Given the description of an element on the screen output the (x, y) to click on. 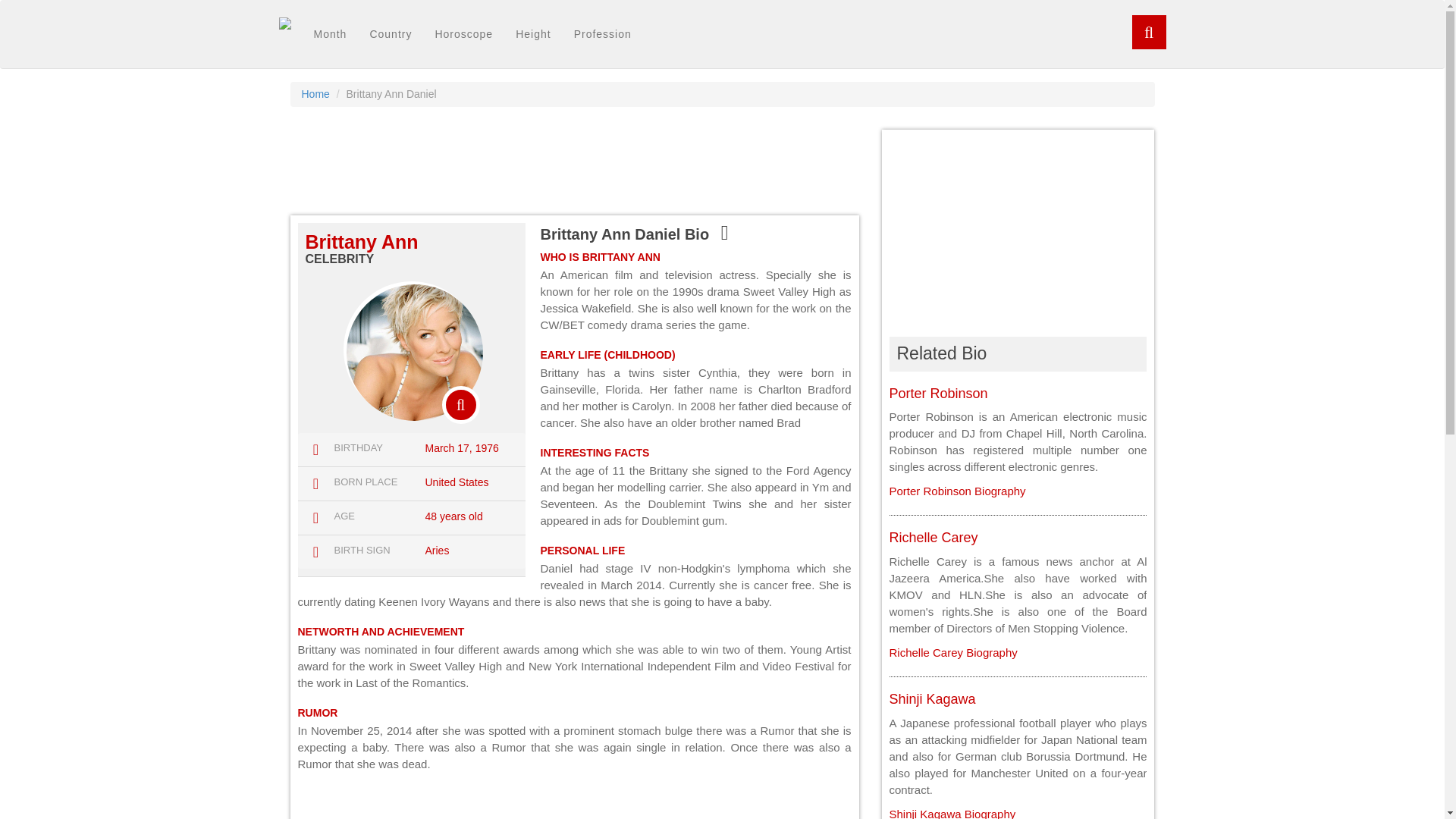
Richelle Carey Biography (952, 652)
Porter Robinson (937, 393)
1976 (485, 448)
Shinji Kagawa (931, 698)
Height (532, 34)
Richelle Carey (932, 537)
Shinji Kagawa Biography (951, 813)
CELEBRITY (339, 258)
Porter Robinson (937, 393)
Horoscope (463, 34)
Month (329, 34)
Aries (436, 550)
Porter Robinson (956, 490)
Porter Robinson Biography (956, 490)
Shinji Kagawa (951, 813)
